Given the description of an element on the screen output the (x, y) to click on. 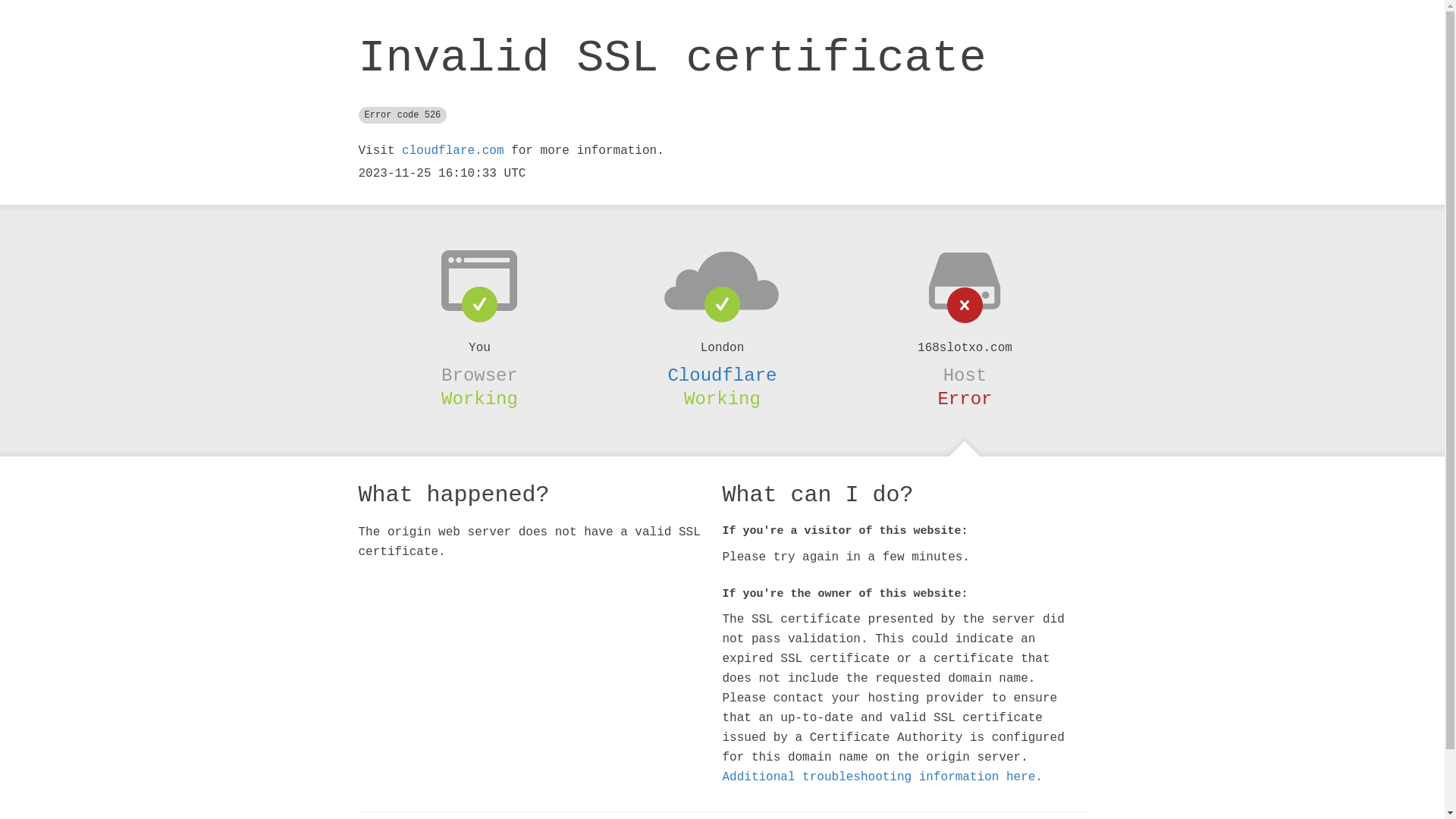
cloudflare.com Element type: text (452, 150)
Additional troubleshooting information here. Element type: text (881, 777)
Cloudflare Element type: text (721, 375)
